Given the description of an element on the screen output the (x, y) to click on. 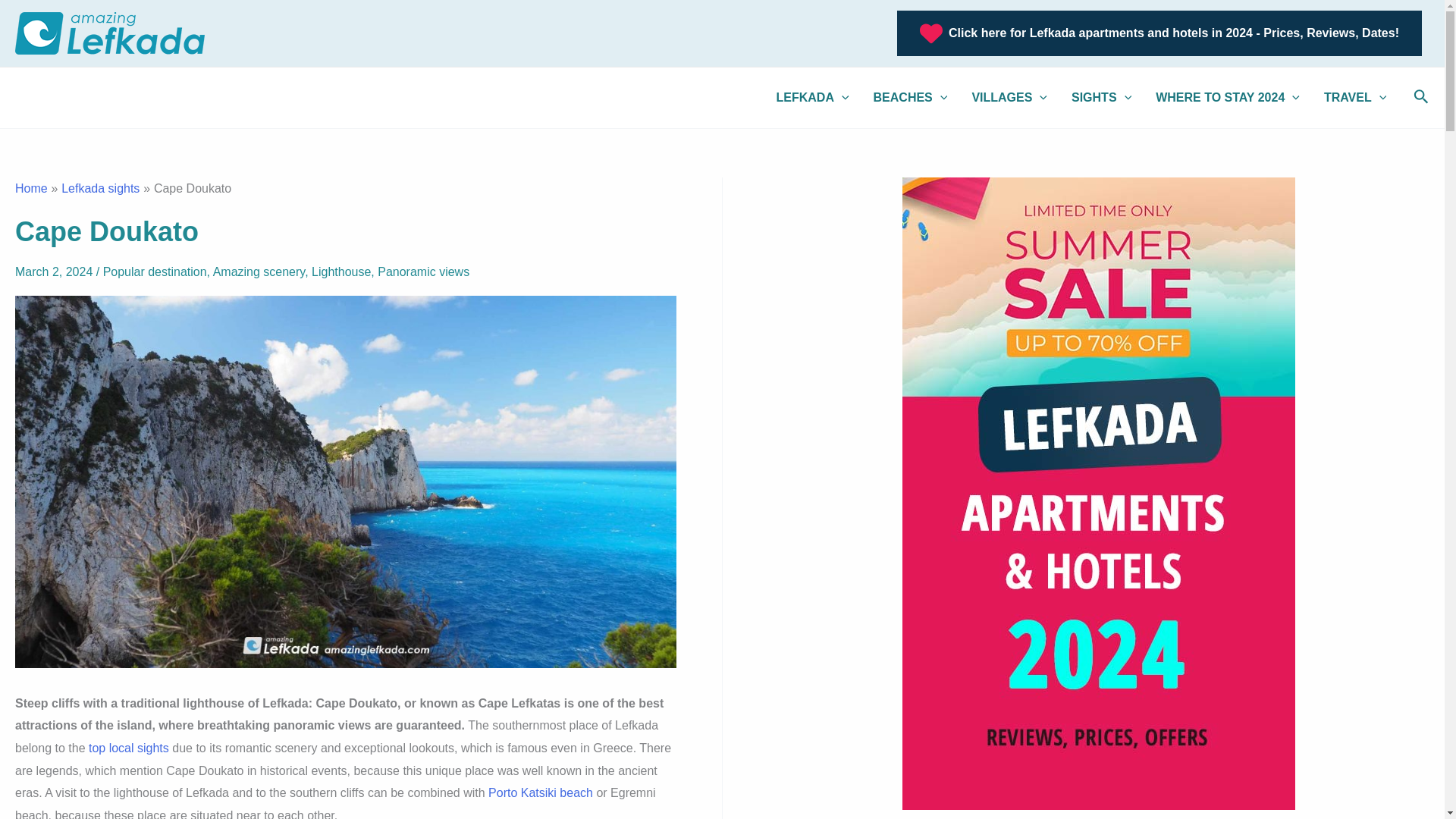
BEACHES (910, 97)
LEFKADA (812, 97)
